Given the description of an element on the screen output the (x, y) to click on. 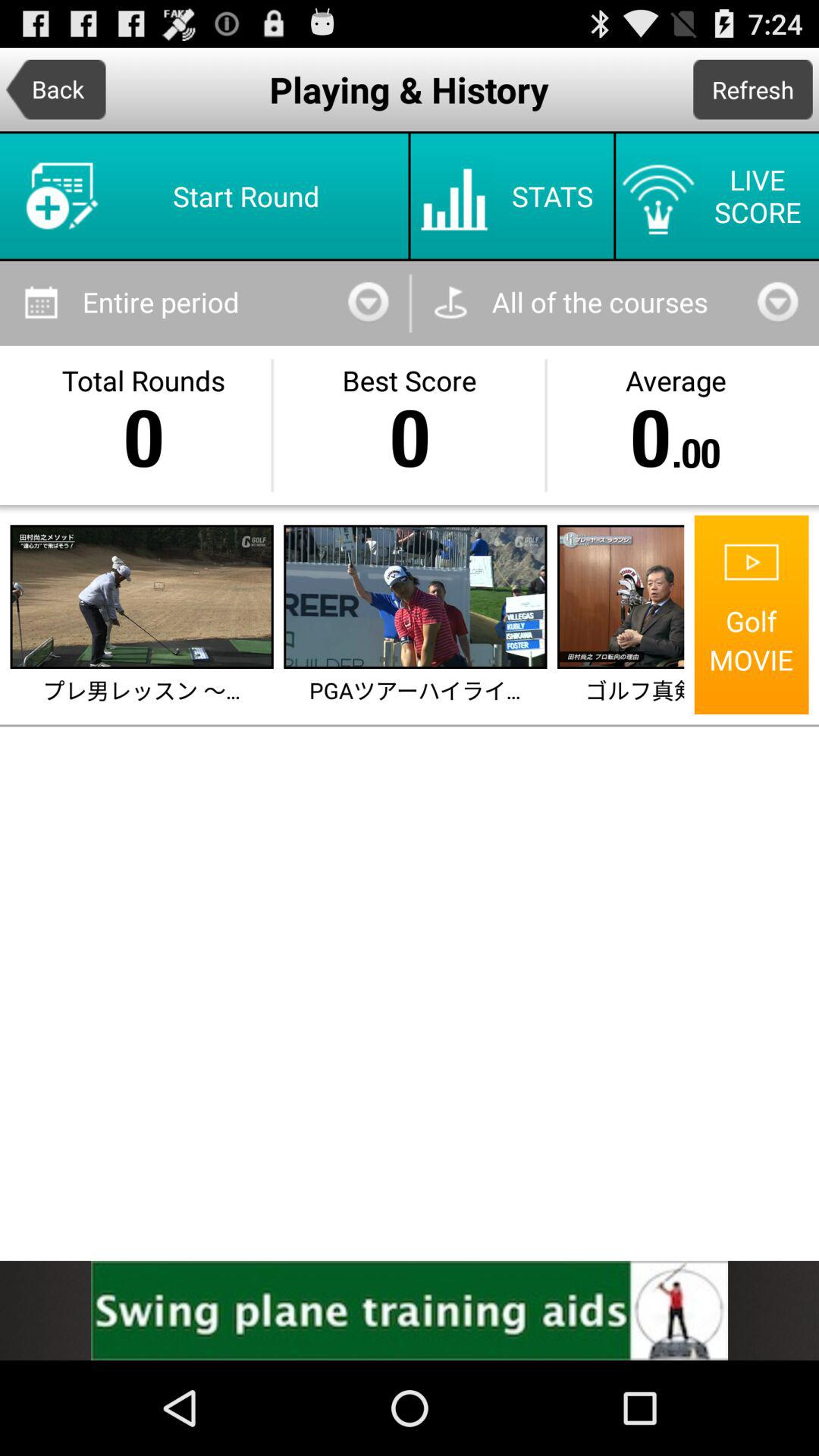
play this video (415, 596)
